Given the description of an element on the screen output the (x, y) to click on. 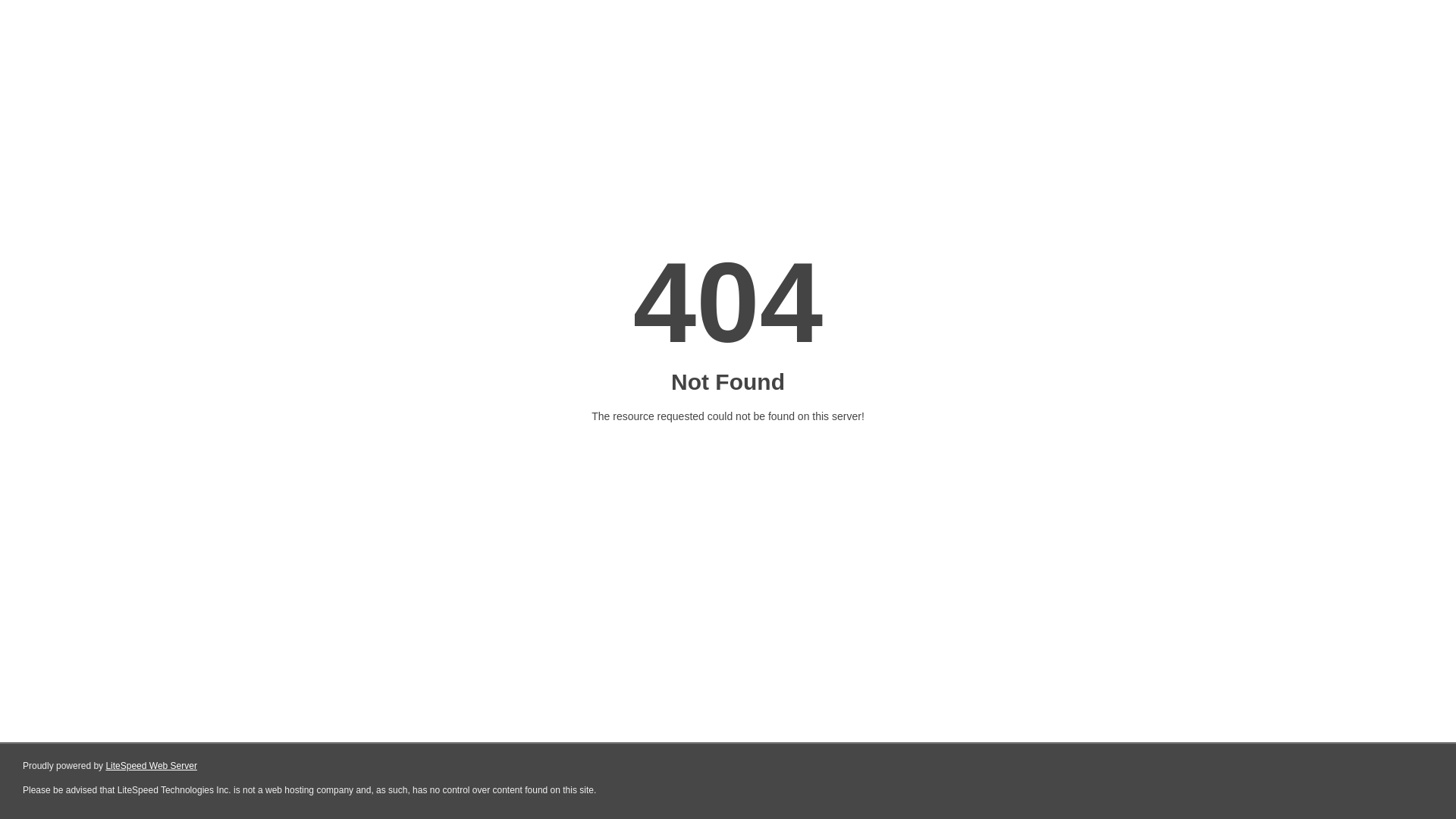
LiteSpeed Web Server Element type: text (151, 765)
